Given the description of an element on the screen output the (x, y) to click on. 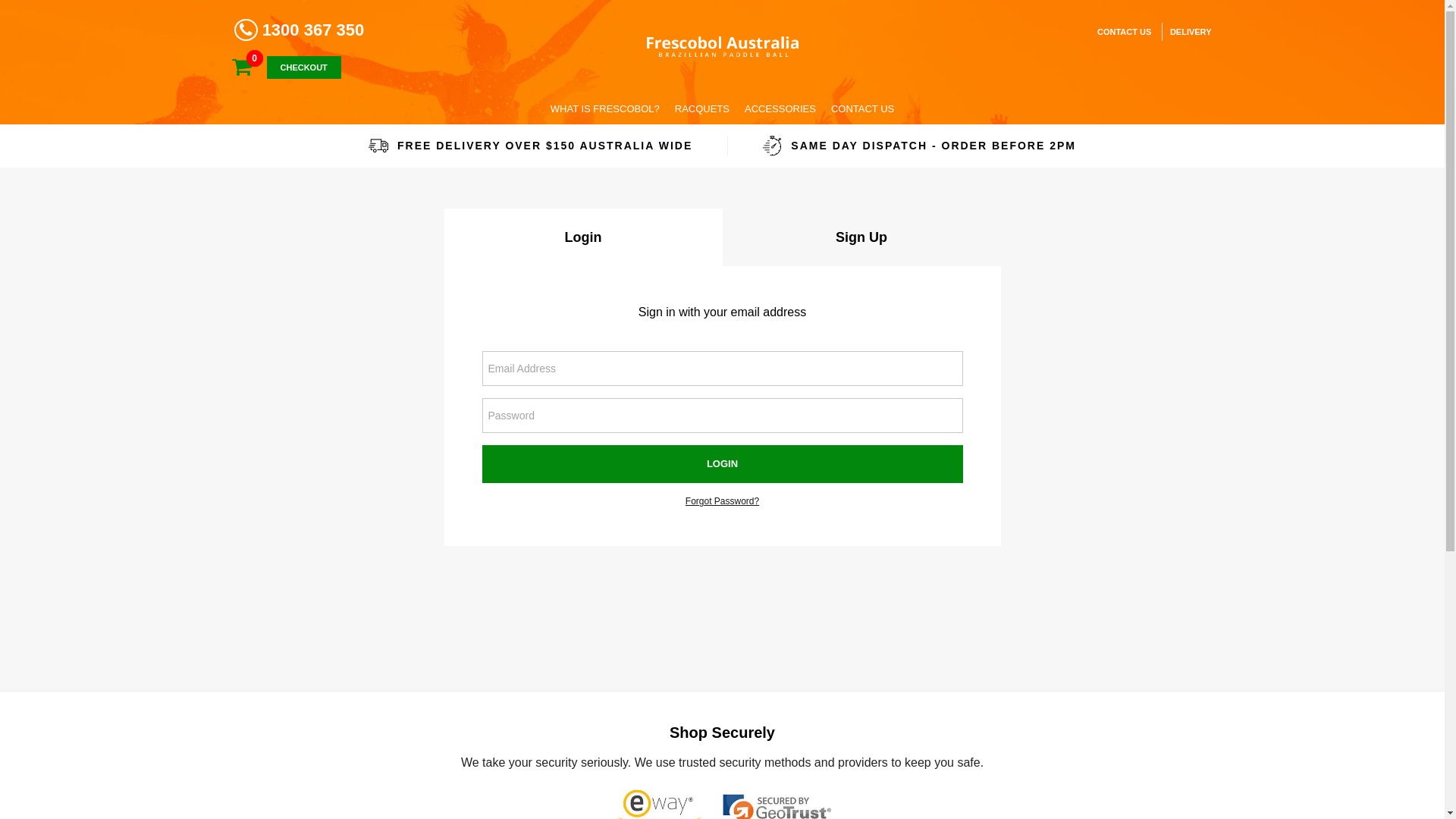
CONTACT US Element type: text (862, 109)
Password Element type: hover (722, 415)
WHAT IS FRESCOBOL? Element type: text (604, 109)
LOGIN Element type: text (722, 464)
0 Element type: text (249, 67)
SAME DAY DISPATCH - ORDER BEFORE 2PM Element type: text (918, 145)
CONTACT US Element type: text (1123, 31)
RACQUETS Element type: text (702, 109)
DELIVERY Element type: text (1186, 31)
CHECKOUT Element type: text (303, 67)
Email Address Element type: hover (722, 368)
FREE DELIVERY OVER $150 AUSTRALIA WIDE Element type: text (529, 145)
1300 367 350 Element type: text (298, 30)
Forgot Password? Element type: text (722, 500)
ACCESSORIES Element type: text (780, 109)
